Given the description of an element on the screen output the (x, y) to click on. 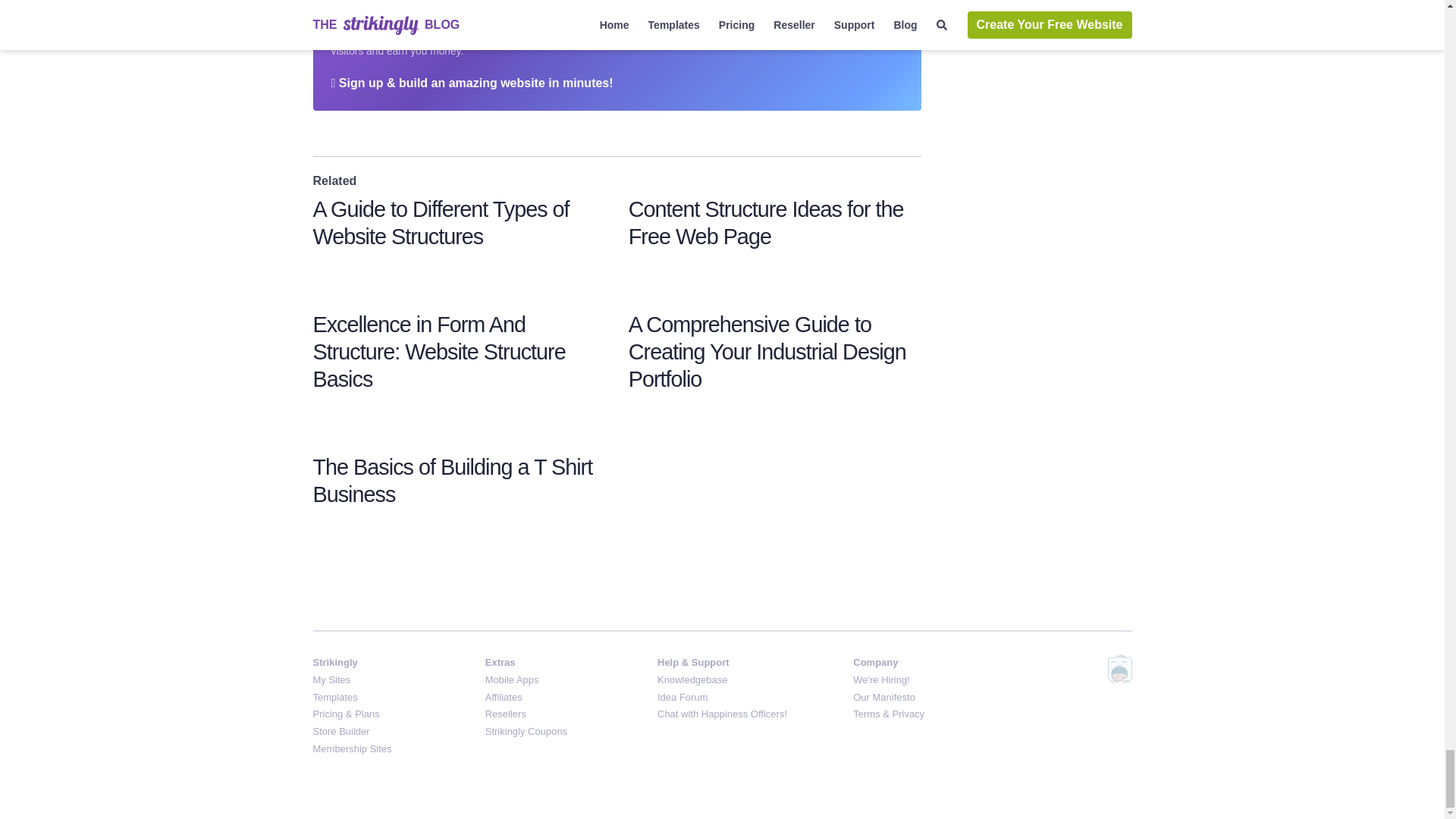
Excellence in Form And Structure: Website Structure Basics (438, 351)
A Guide to Different Types of Website Structures (441, 222)
The Basics of Building a T Shirt Business (452, 480)
Content Structure Ideas for the Free Web Page (766, 222)
Strikingly Logo (368, 10)
